Given the description of an element on the screen output the (x, y) to click on. 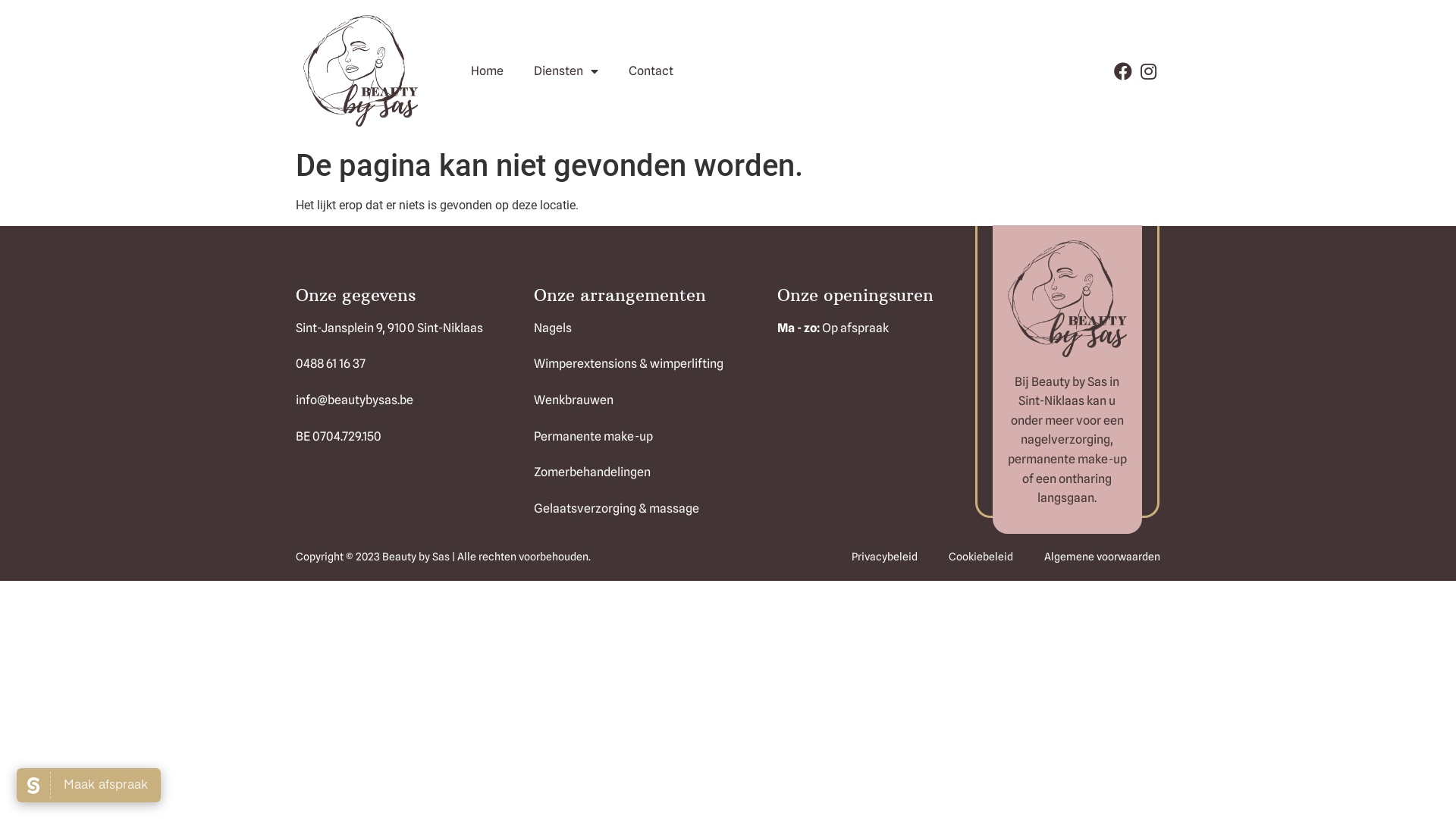
Diensten Element type: text (565, 71)
Cookiebeleid Element type: text (980, 556)
Algemene voorwaarden Element type: text (1102, 556)
Home Element type: text (486, 71)
Wenkbrauwen Element type: text (647, 400)
Wimperextensions & wimperlifting Element type: text (647, 363)
Zomerbehandelingen Element type: text (647, 472)
Privacybeleid Element type: text (884, 556)
Gelaatsverzorging & massage Element type: text (647, 508)
0488 61 16 37 Element type: text (399, 363)
Nagels Element type: text (647, 328)
Permanente make-up Element type: text (647, 436)
Sint-Jansplein 9, 9100 Sint-Niklaas Element type: text (399, 328)
info@beautybysas.be Element type: text (399, 400)
Contact Element type: text (650, 71)
